Given the description of an element on the screen output the (x, y) to click on. 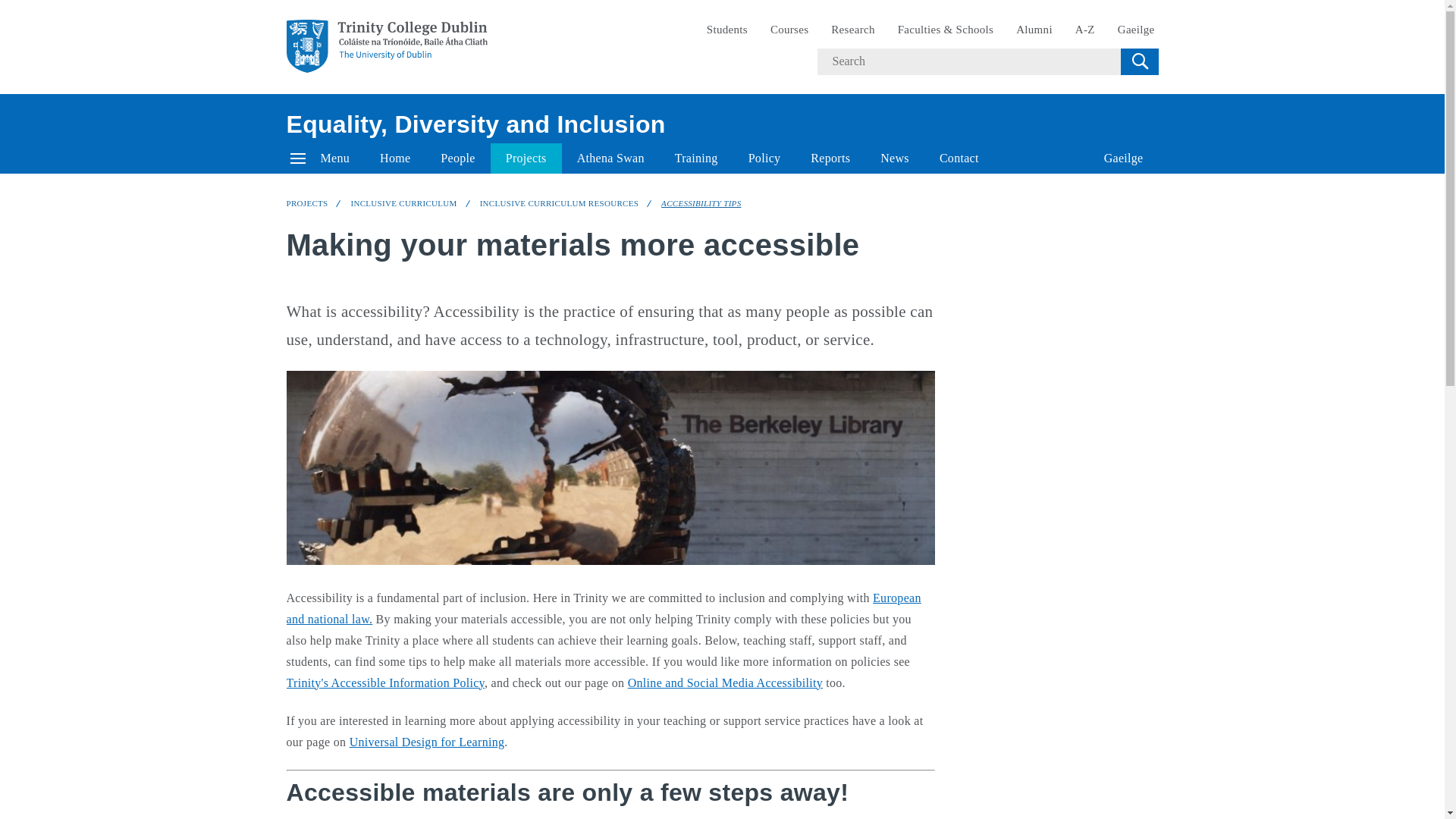
Home (395, 158)
Search (1139, 61)
Policy (764, 158)
News (894, 158)
Students (727, 29)
Projects (526, 158)
Alumni (1034, 29)
Courses (789, 29)
Research (852, 29)
People (457, 158)
A-Z (1085, 29)
Training (696, 158)
Gaeilge (1123, 158)
Athena Swan (610, 158)
Menu (320, 158)
